Given the description of an element on the screen output the (x, y) to click on. 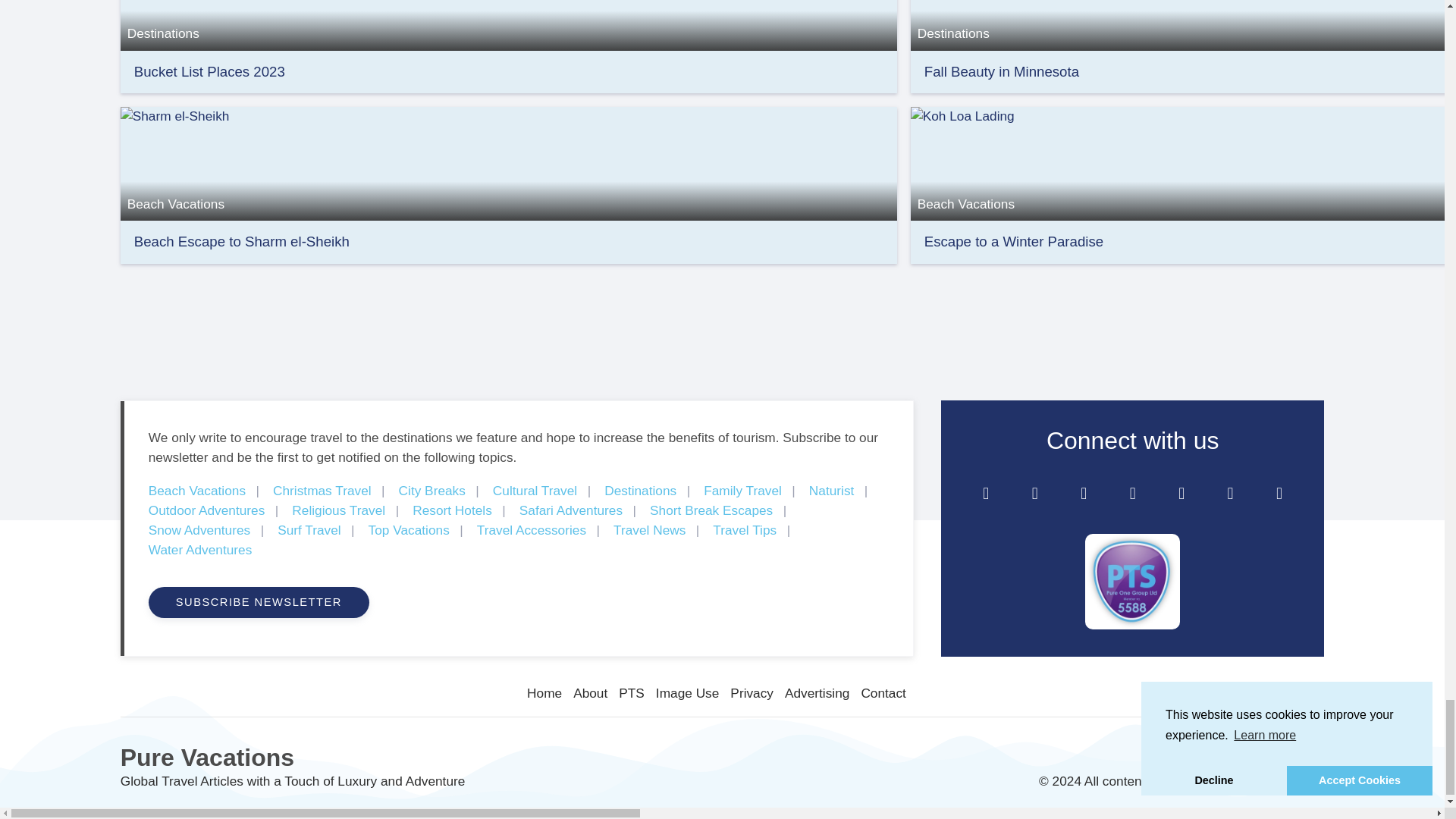
Fall Beauty in Minnesota (1001, 71)
Fall Beauty in Minnesota (1001, 71)
Beach Escape to Sharm el-Sheikh (508, 162)
Escape to a Winter Paradise (1183, 162)
Beach Escape to Sharm el-Sheikh (241, 241)
Bucket List Places 2023 (209, 71)
Escape to a Winter Paradise (1013, 241)
Bucket List Places 2023 (209, 71)
Beach Escape to Sharm el-Sheikh (241, 241)
Escape to a Winter Paradise (1013, 241)
